Given the description of an element on the screen output the (x, y) to click on. 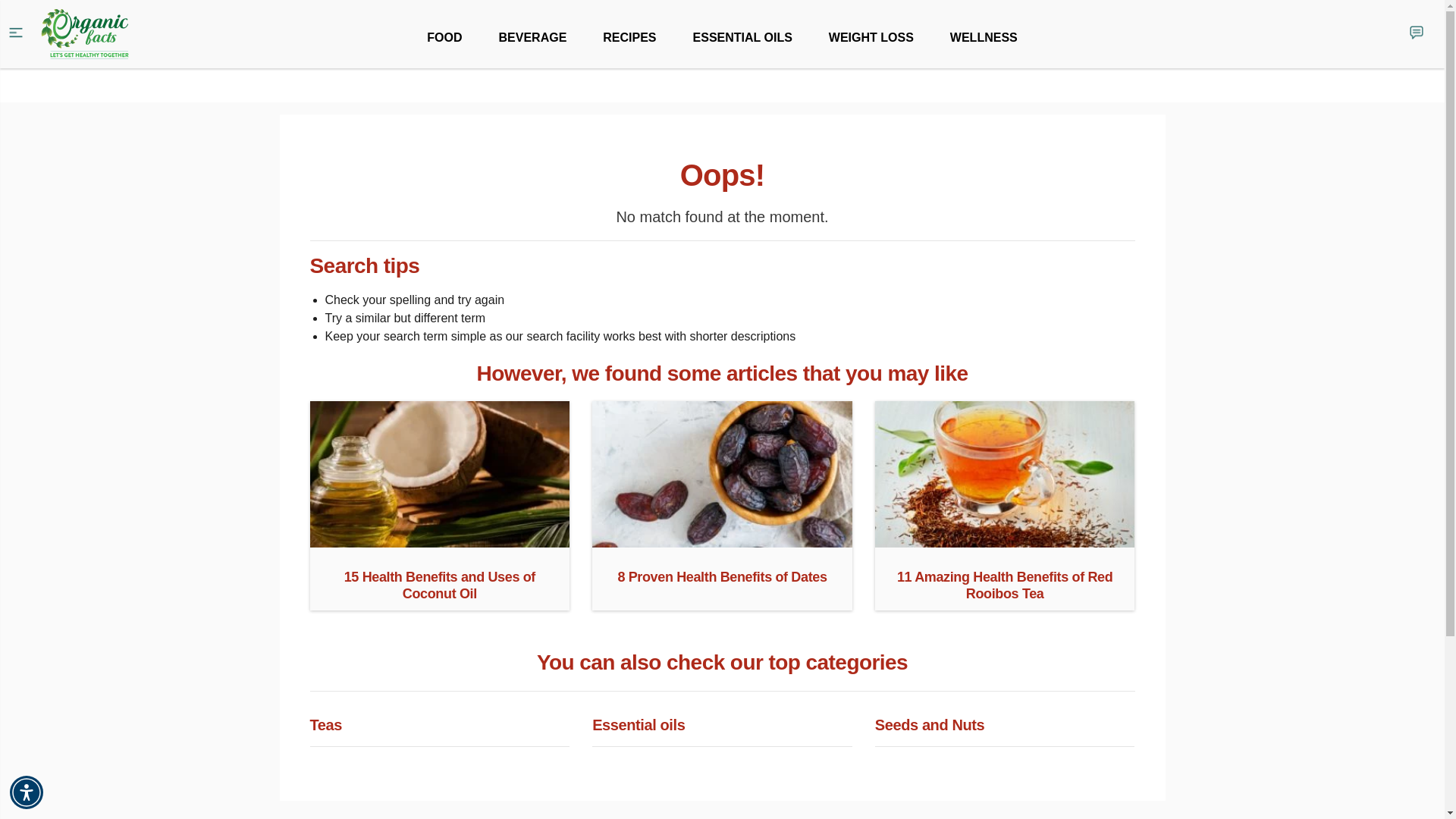
15 Health Benefits and Uses of Coconut Oil (438, 541)
8 Proven Health Benefits of Dates (721, 541)
Organic Facts (85, 34)
11 Amazing Health Benefits of Red Rooibos Tea (1005, 541)
Accessibility Menu (26, 792)
